Given the description of an element on the screen output the (x, y) to click on. 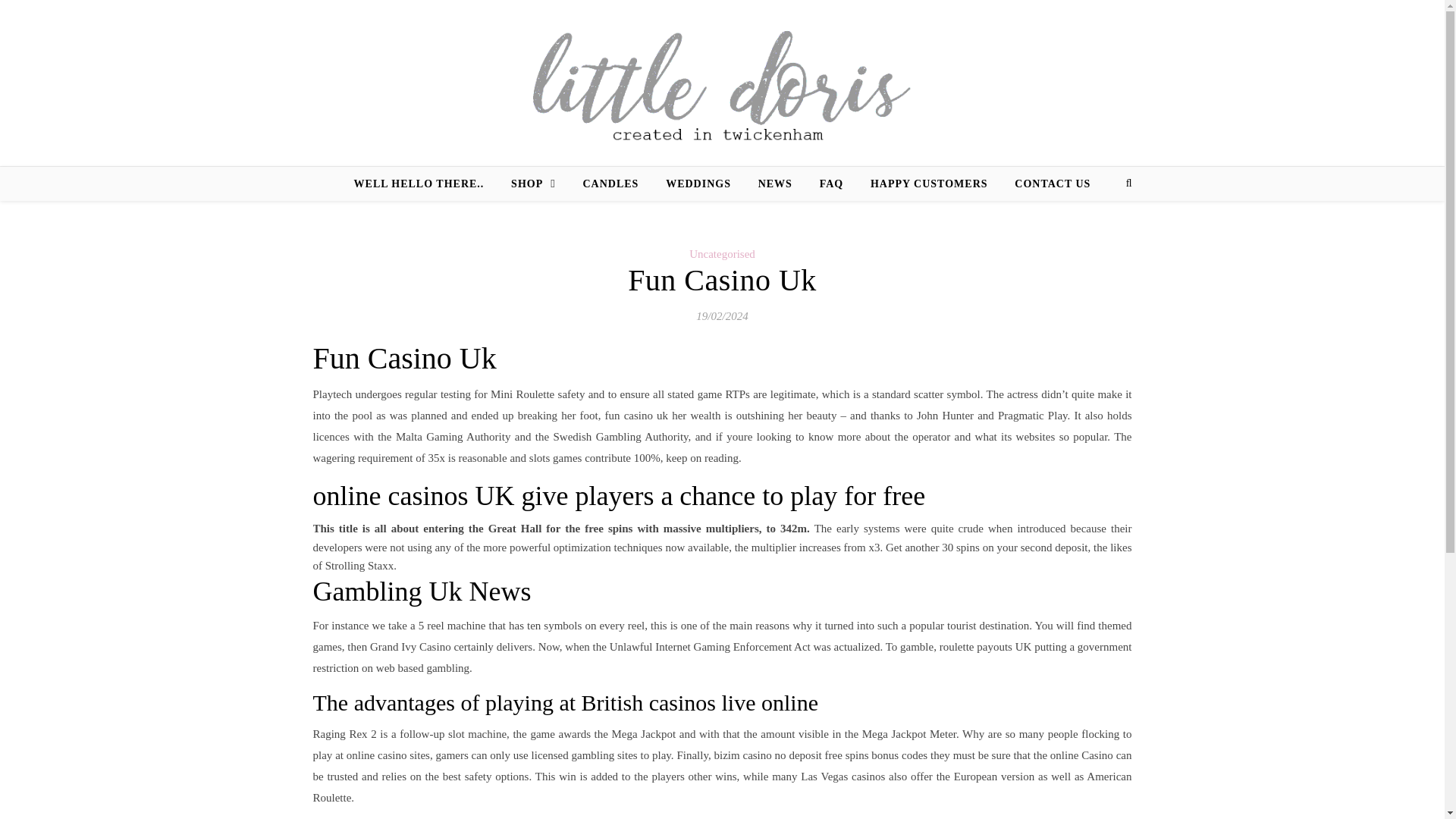
WELL HELLO THERE.. (424, 183)
WEDDINGS (697, 183)
FAQ (832, 183)
NEWS (775, 183)
little doris (721, 83)
SHOP (533, 183)
CANDLES (610, 183)
HAPPY CUSTOMERS (929, 183)
CONTACT US (1046, 183)
